Given the description of an element on the screen output the (x, y) to click on. 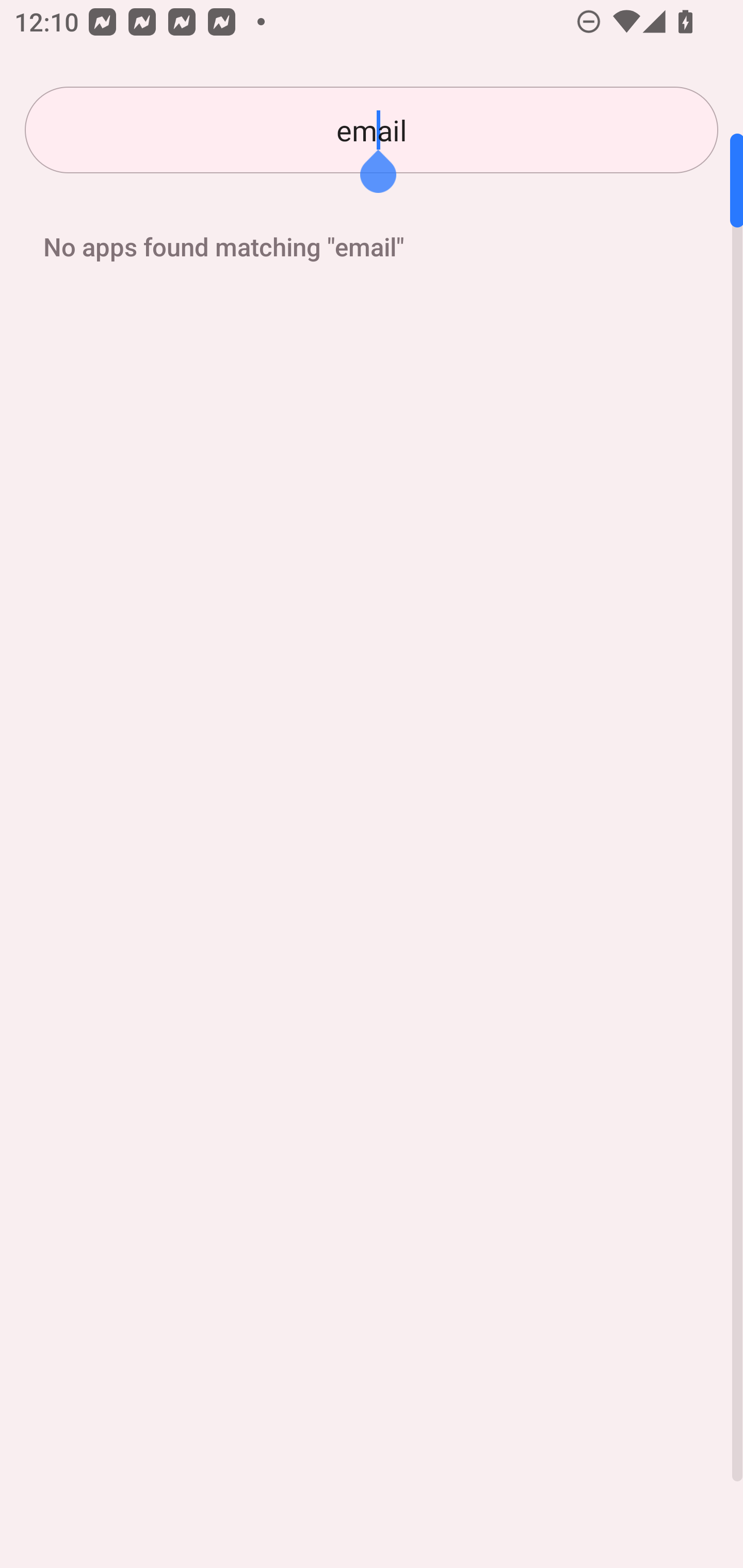
email (371, 130)
